Given the description of an element on the screen output the (x, y) to click on. 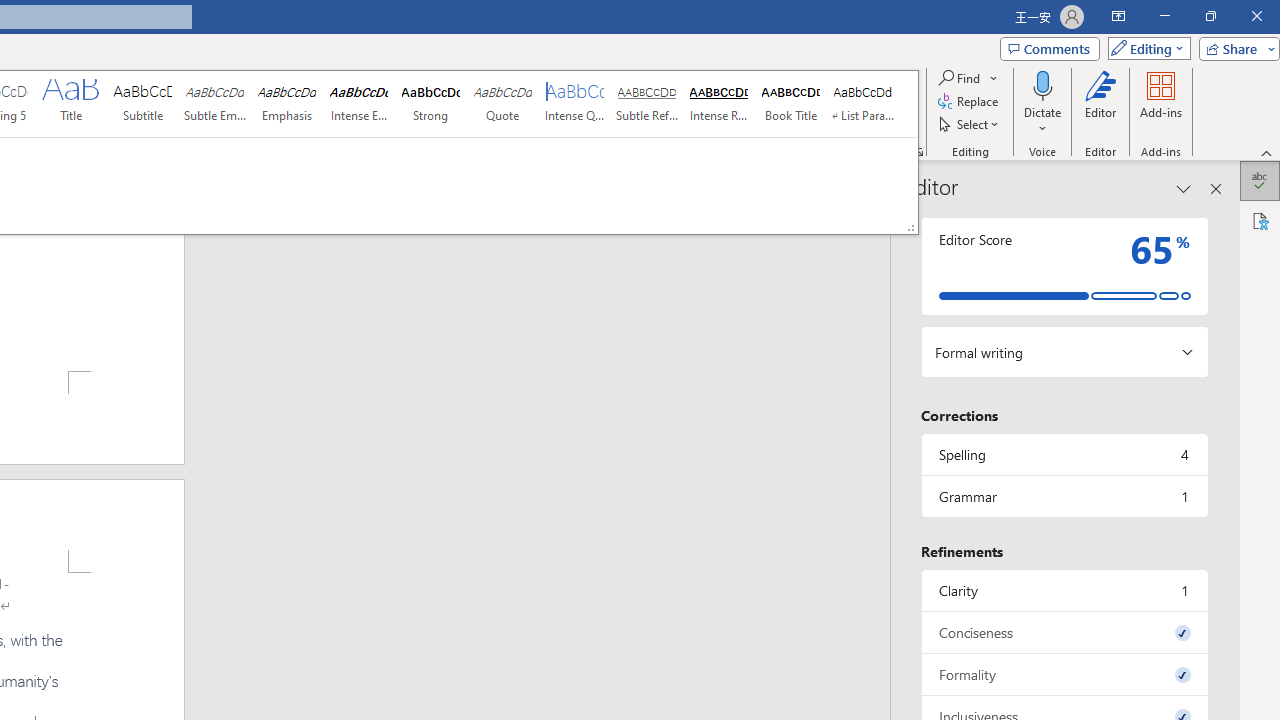
Formality, 0 issues. Press space or enter to review items. (1064, 673)
Accessibility (1260, 220)
Conciseness, 0 issues. Press space or enter to review items. (1064, 632)
Grammar, 1 issue. Press space or enter to review items. (1064, 495)
Editor Score 65% (1064, 266)
